Given the description of an element on the screen output the (x, y) to click on. 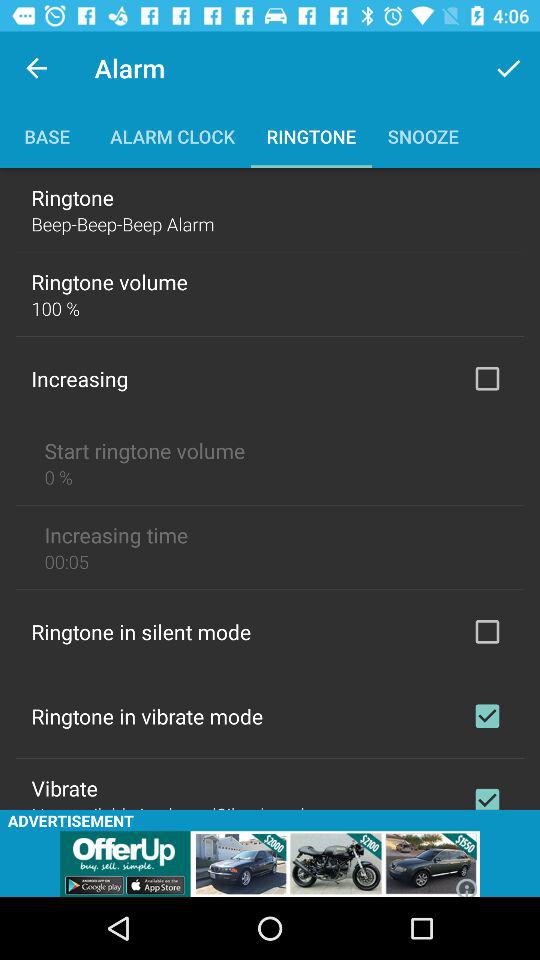
choose (487, 631)
